Given the description of an element on the screen output the (x, y) to click on. 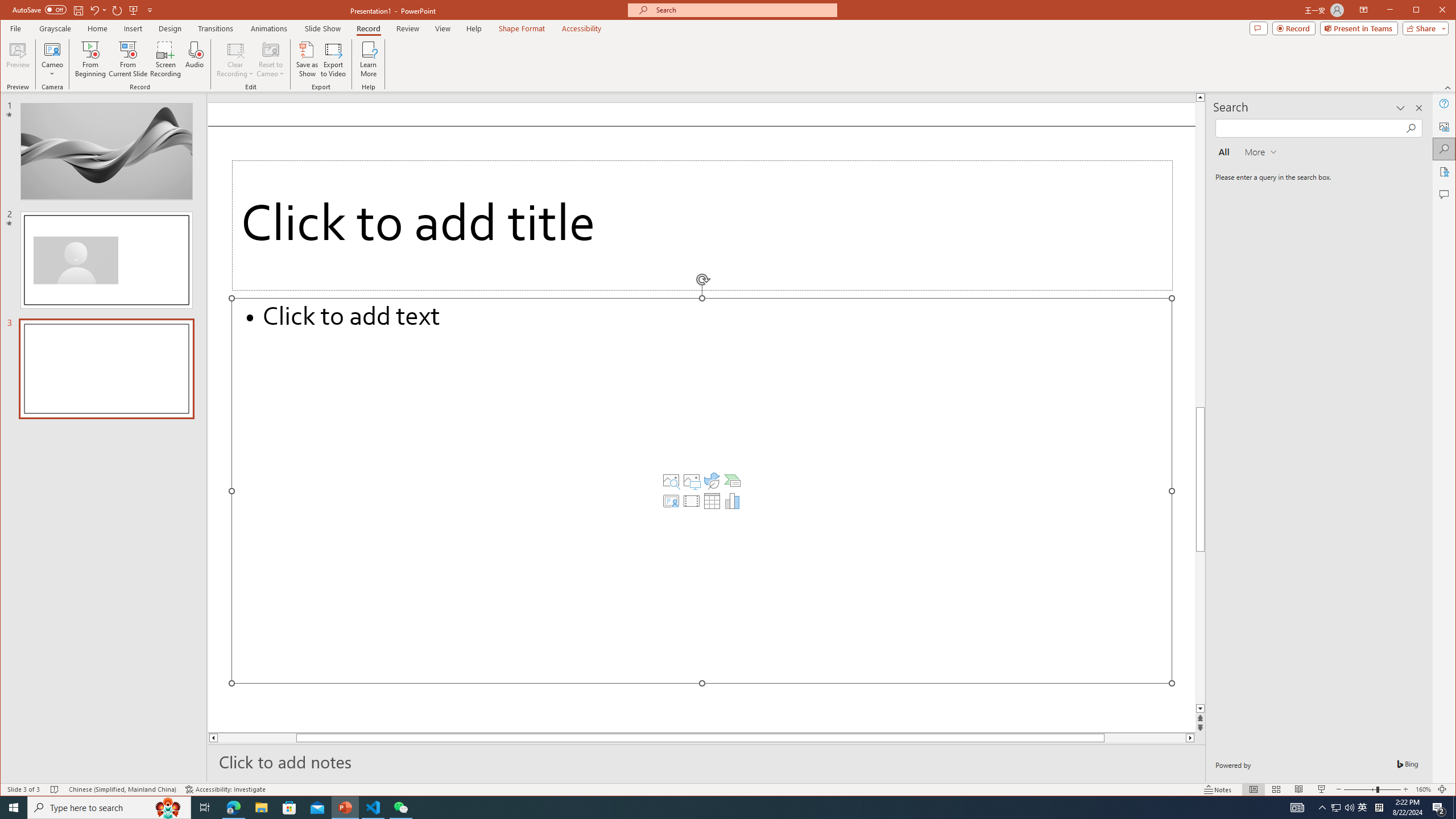
Learn More (368, 59)
Insert a SmartArt Graphic (732, 480)
Audio (194, 59)
Cameo (52, 48)
Microsoft Store (289, 807)
WeChat - 1 running window (400, 807)
